Given the description of an element on the screen output the (x, y) to click on. 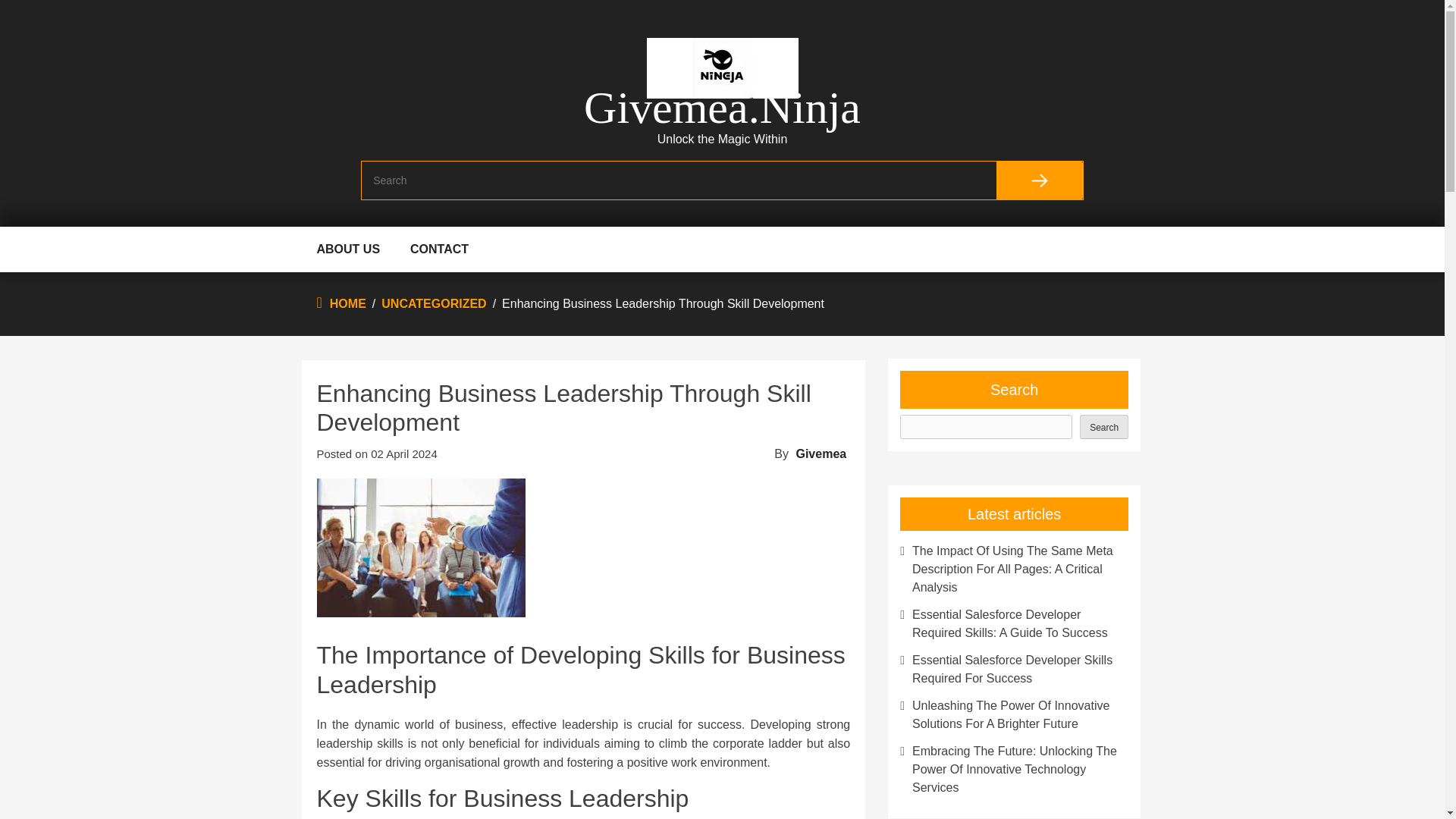
HOME (348, 303)
02 April 2024 (404, 453)
ABOUT US (348, 249)
Search (1039, 180)
UNCATEGORIZED (433, 303)
Essential Salesforce Developer Skills Required For Success (1013, 669)
Search (1104, 426)
CONTACT (439, 249)
